Given the description of an element on the screen output the (x, y) to click on. 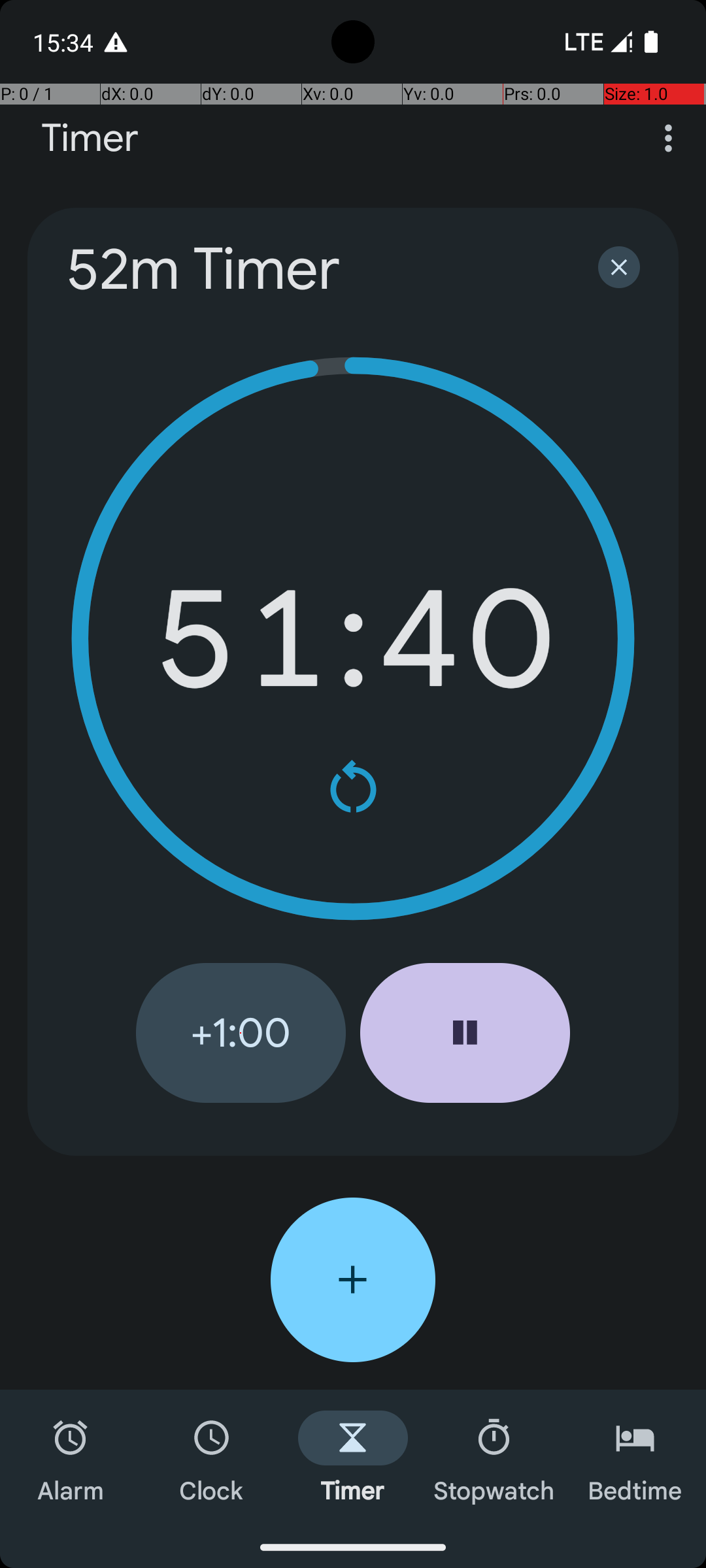
Add timer Element type: android.widget.Button (352, 1279)
52m Timer Element type: android.widget.TextView (315, 269)
51:45 Element type: android.widget.TextView (352, 638)
+1:00 Element type: android.widget.Button (240, 1032)
Pause Element type: android.widget.Button (465, 1032)
